Given the description of an element on the screen output the (x, y) to click on. 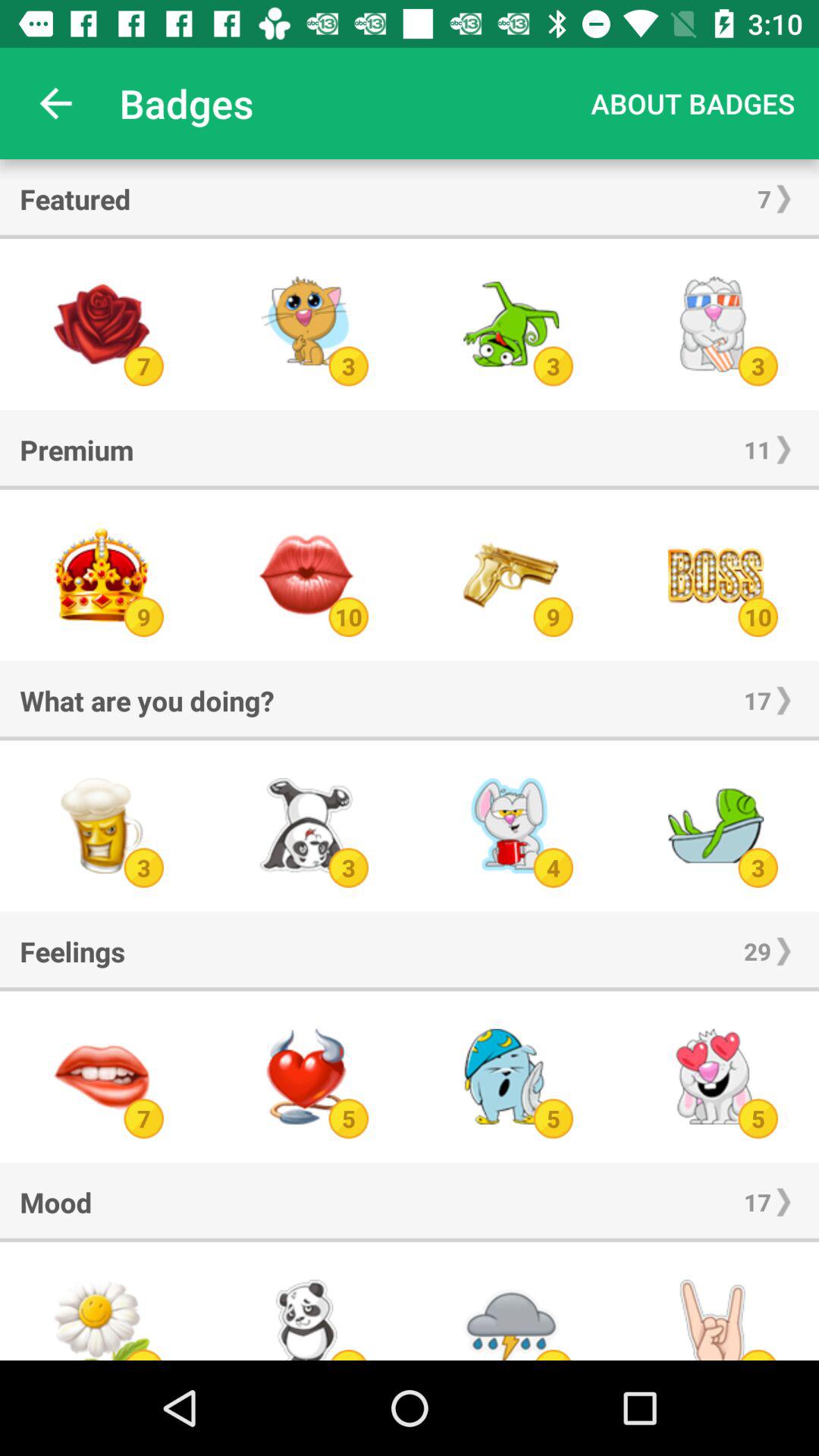
press the item above featured (55, 103)
